Given the description of an element on the screen output the (x, y) to click on. 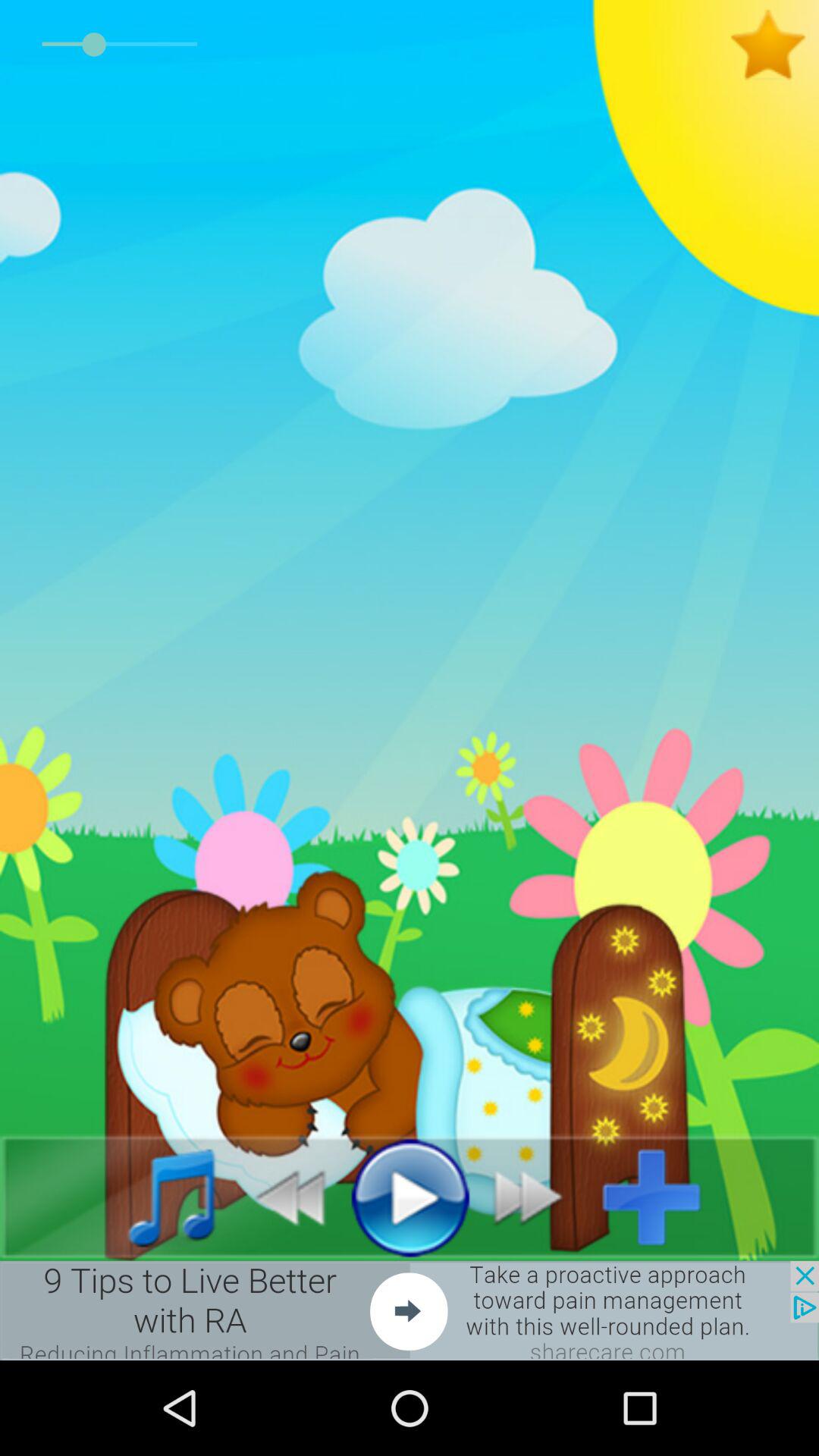
go forward (536, 1196)
